Given the description of an element on the screen output the (x, y) to click on. 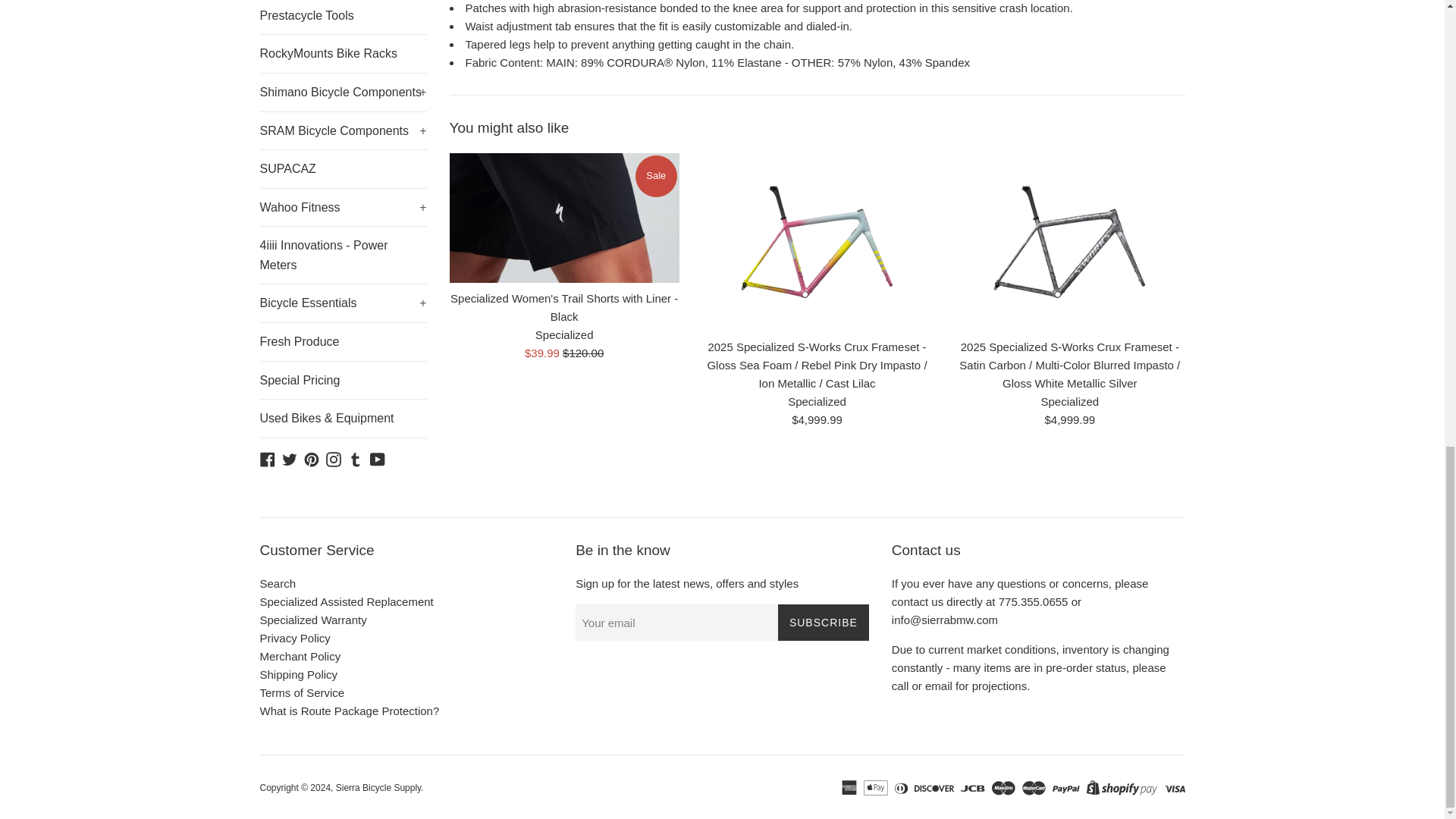
Sierra Bicycle Supply on Instagram (333, 458)
Sierra Bicycle Supply on YouTube (377, 458)
Sierra Bicycle Supply on Twitter (289, 458)
Sierra Bicycle Supply on Pinterest (311, 458)
Sierra Bicycle Supply on Facebook (267, 458)
Specialized Women's Trail Shorts with Liner - Black (563, 217)
Sierra Bicycle Supply on Tumblr (354, 458)
